Given the description of an element on the screen output the (x, y) to click on. 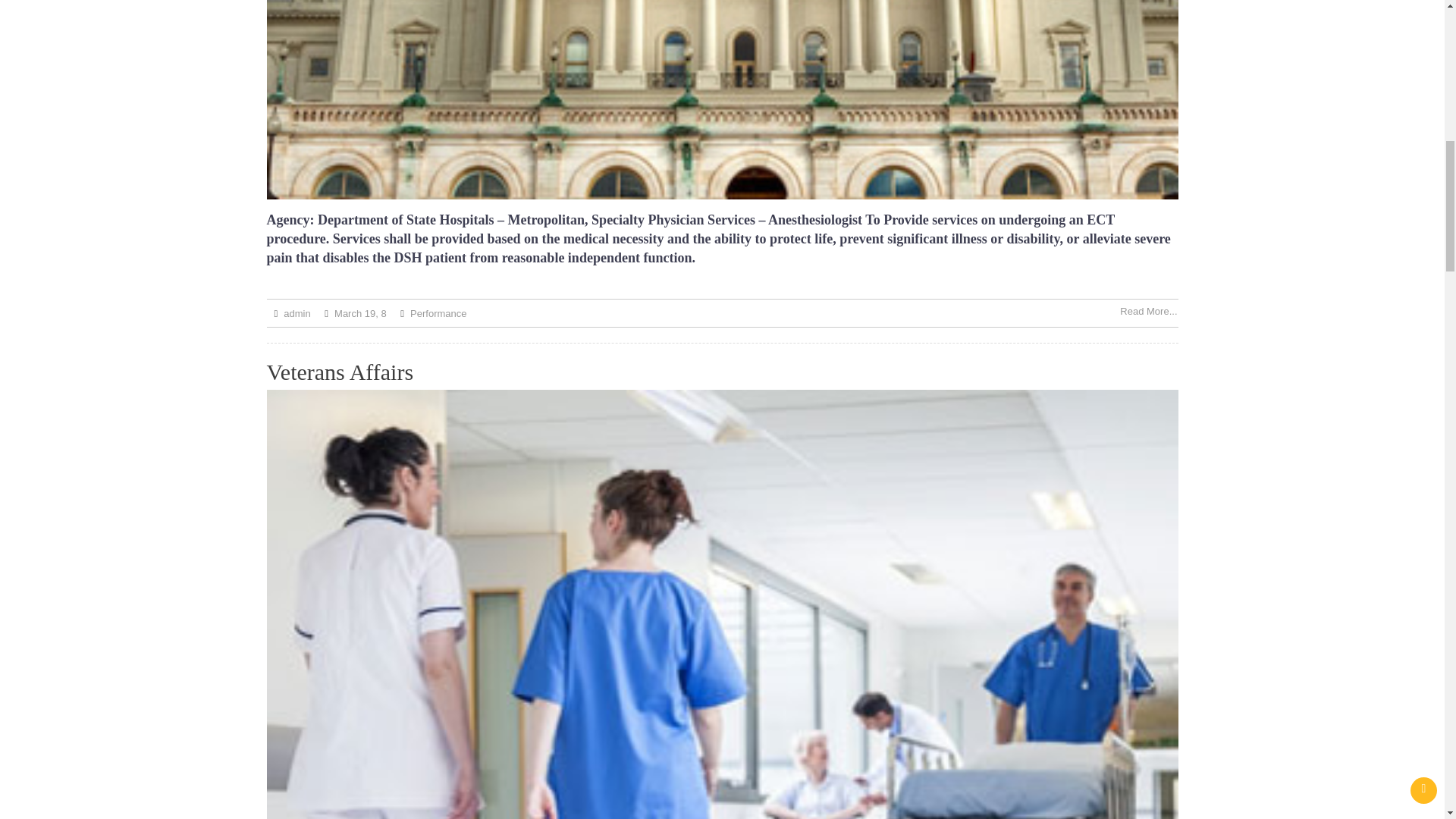
Performance (437, 313)
Veterans Affairs (339, 371)
Read More... (1147, 310)
March 19, 8 (360, 313)
admin (296, 313)
